Given the description of an element on the screen output the (x, y) to click on. 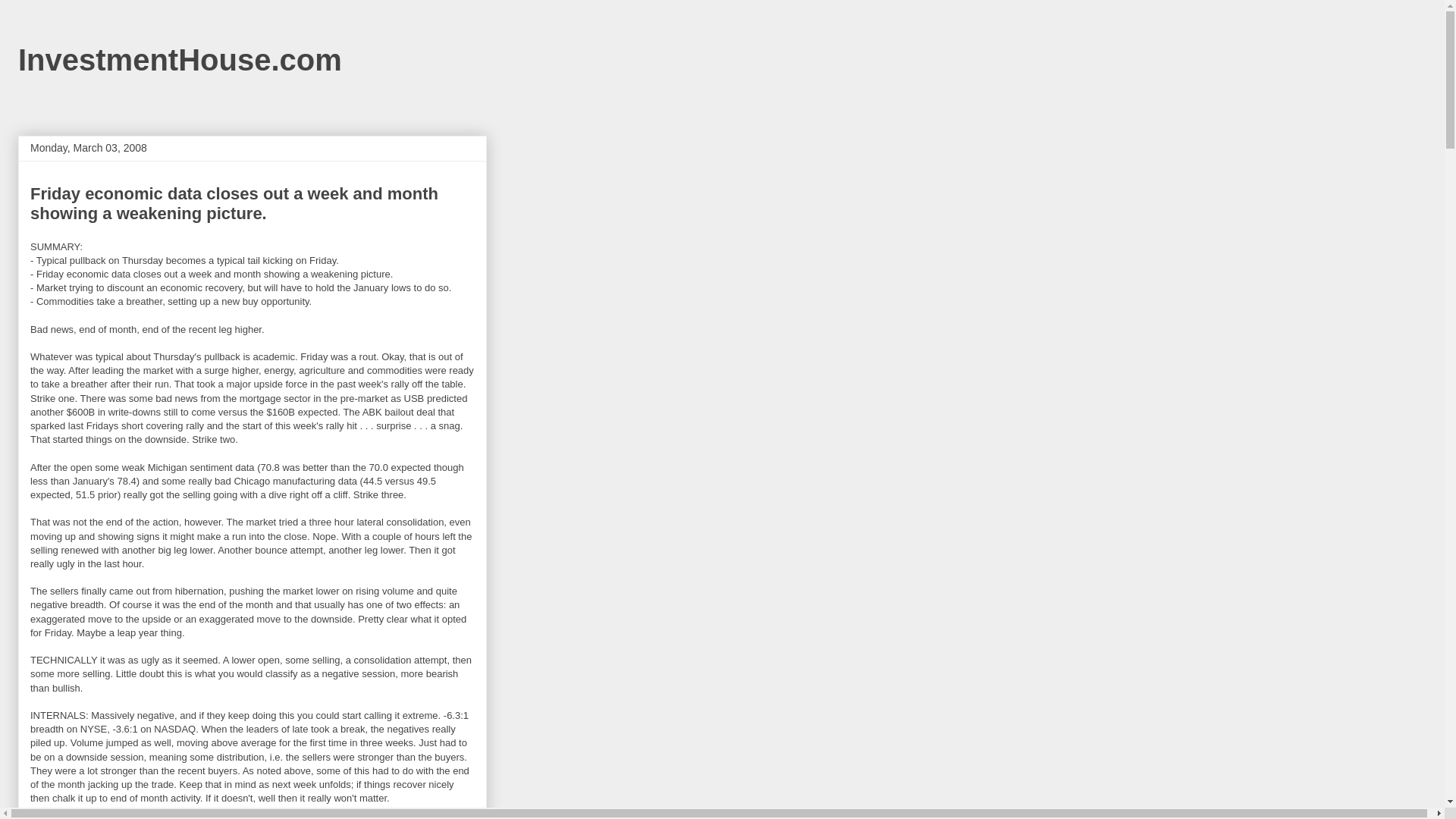
InvestmentHouse.com (179, 59)
